Given the description of an element on the screen output the (x, y) to click on. 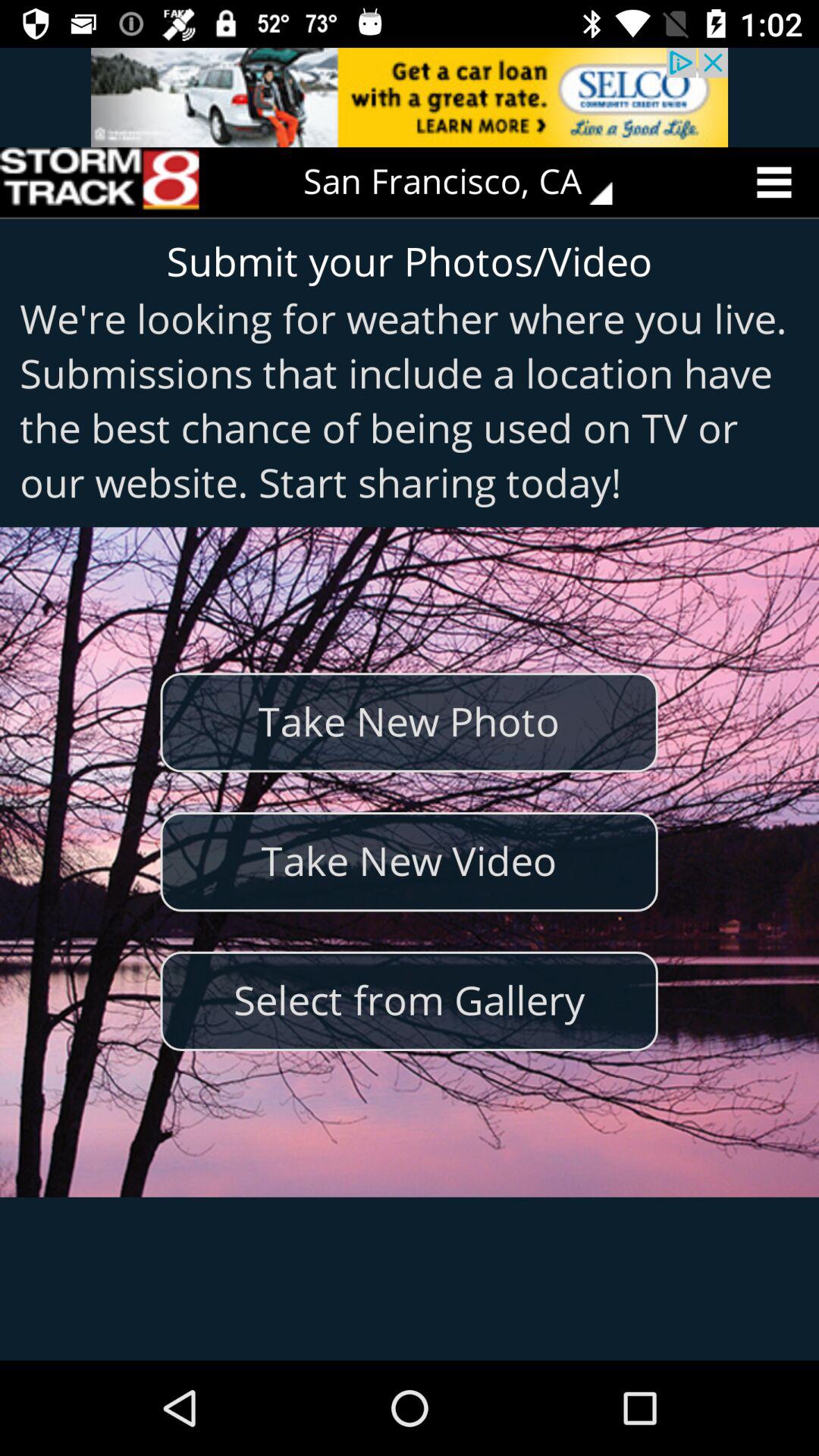
flip to the san francisco, ca (468, 182)
